Given the description of an element on the screen output the (x, y) to click on. 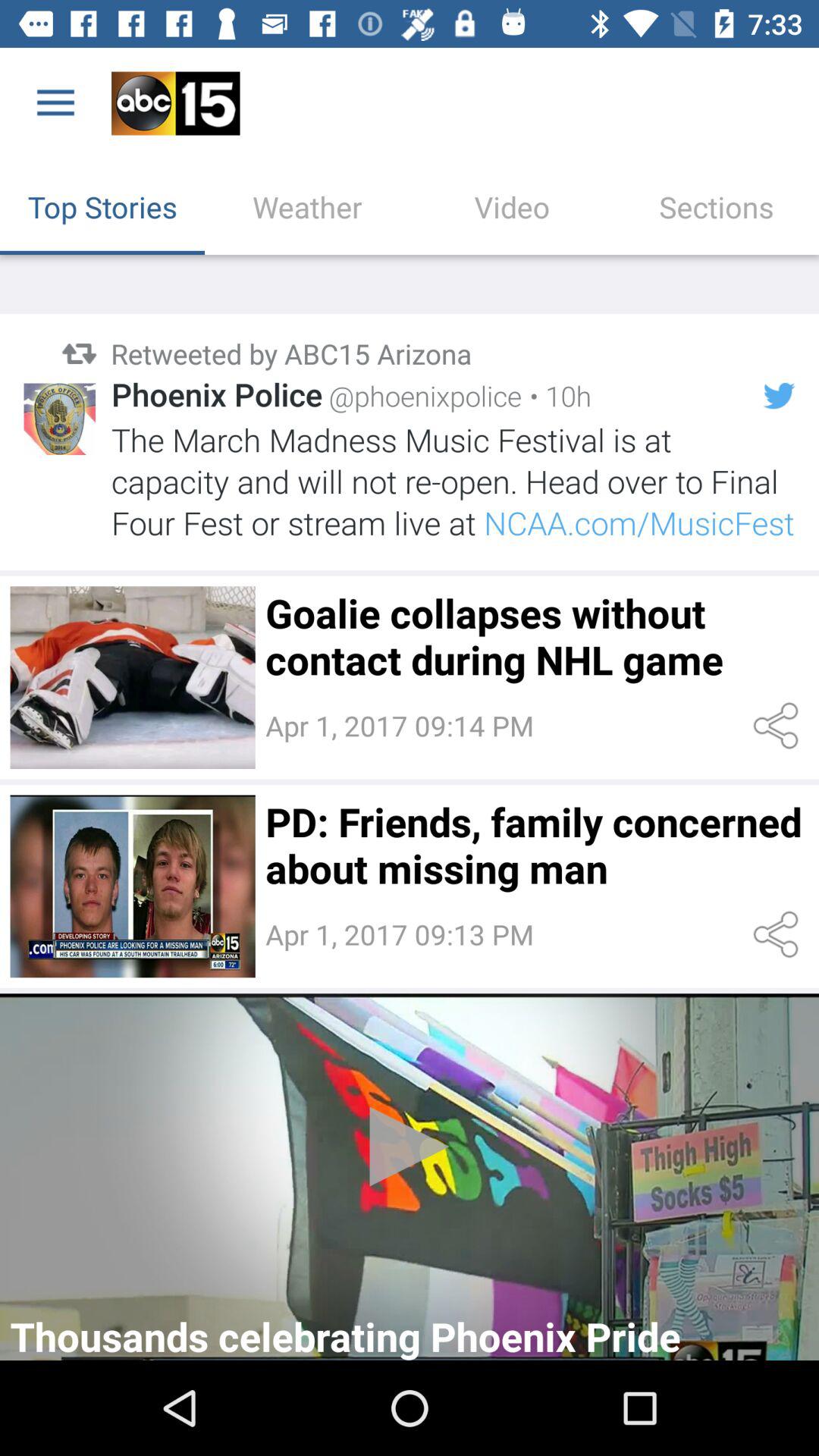
show stories image (132, 677)
